Given the description of an element on the screen output the (x, y) to click on. 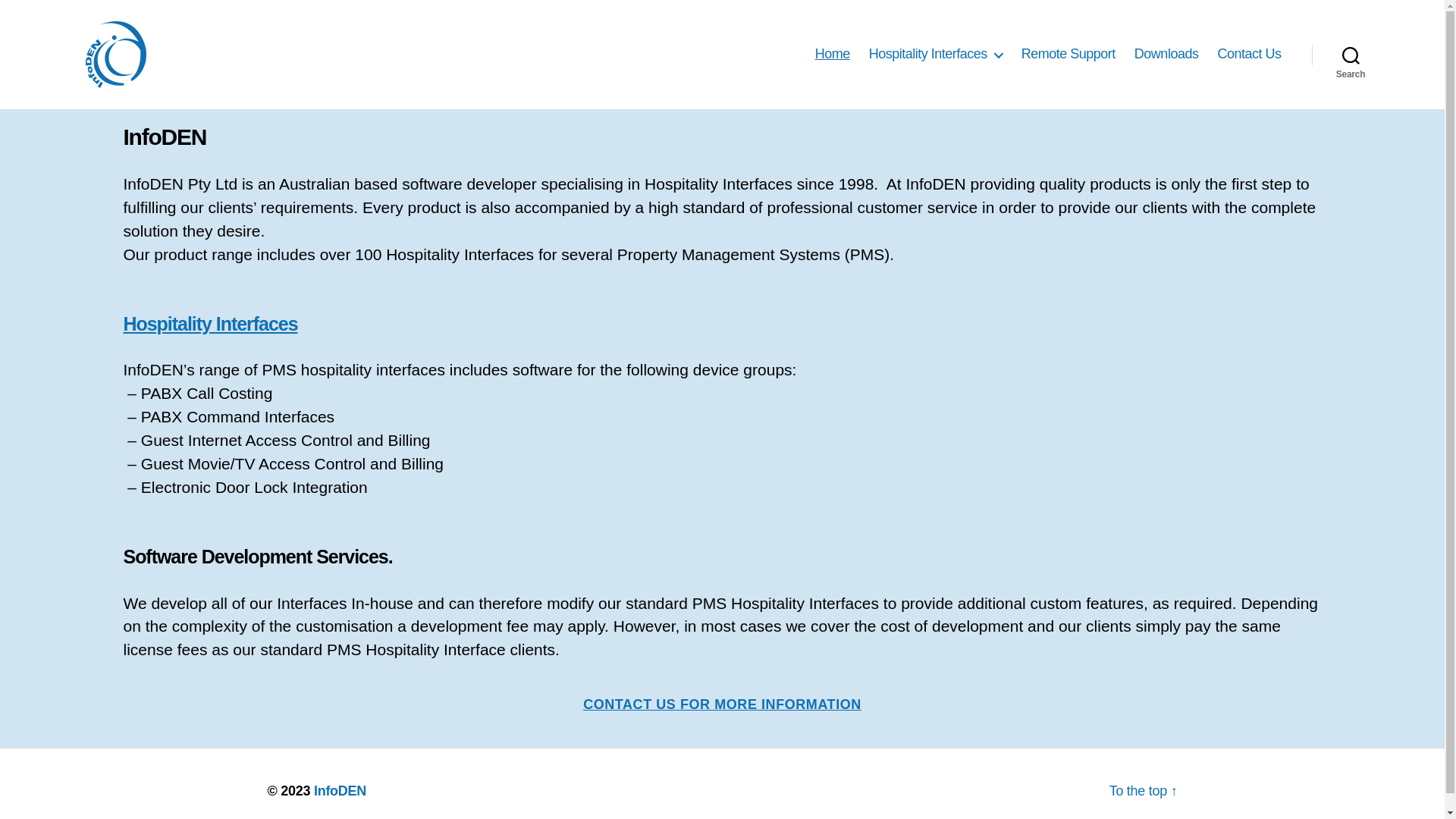
Home Element type: text (832, 54)
Search Element type: text (1350, 54)
Contact Us Element type: text (1248, 54)
Downloads Element type: text (1166, 54)
Remote Support Element type: text (1068, 54)
CONTACT US FOR MORE INFORMATION Element type: text (722, 704)
InfoDEN Element type: text (339, 790)
Hospitality Interfaces Element type: text (935, 54)
Hospitality Interfaces Element type: text (209, 323)
